Given the description of an element on the screen output the (x, y) to click on. 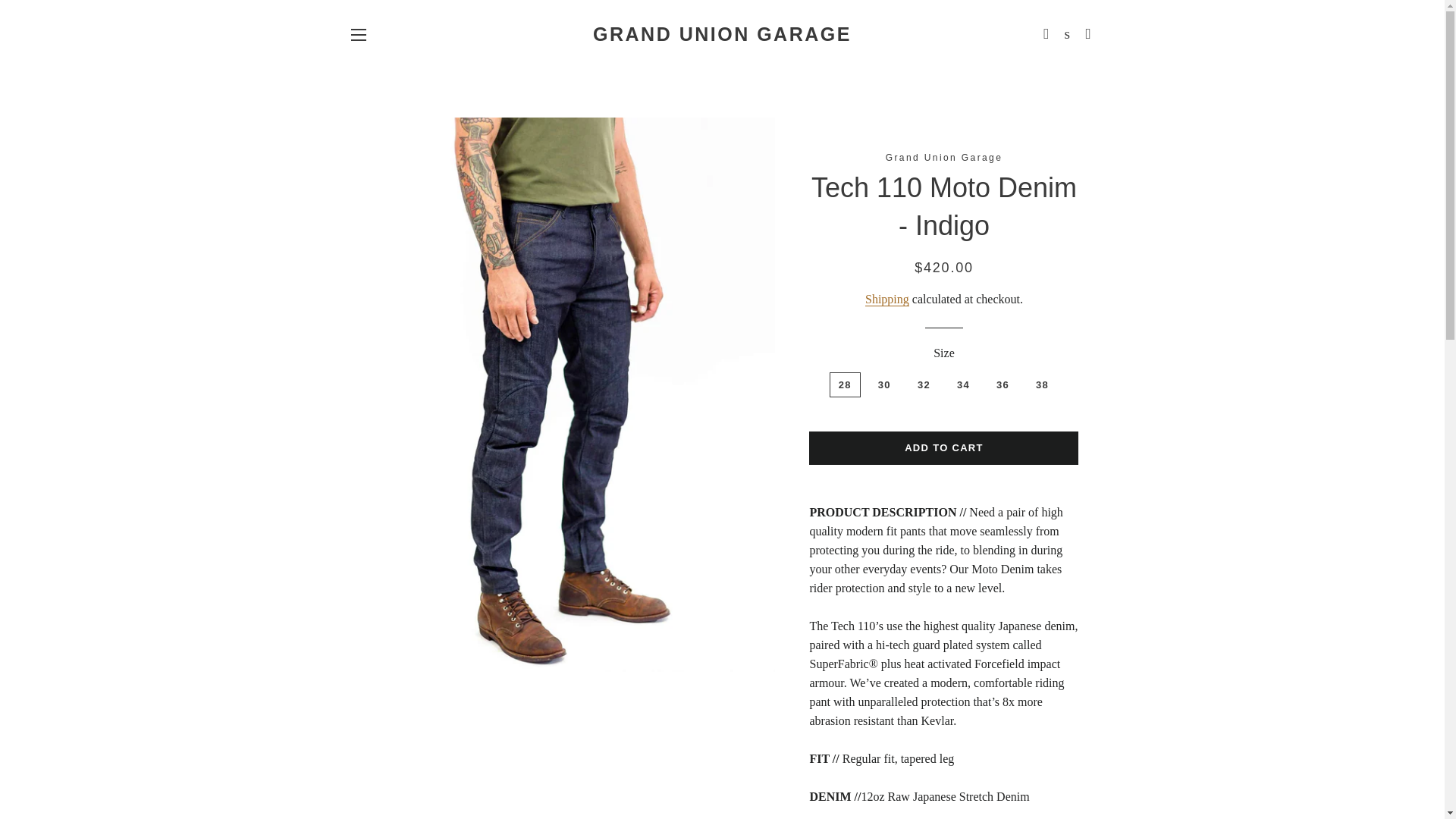
GRAND UNION GARAGE (721, 34)
SITE NAVIGATION (358, 34)
